Given the description of an element on the screen output the (x, y) to click on. 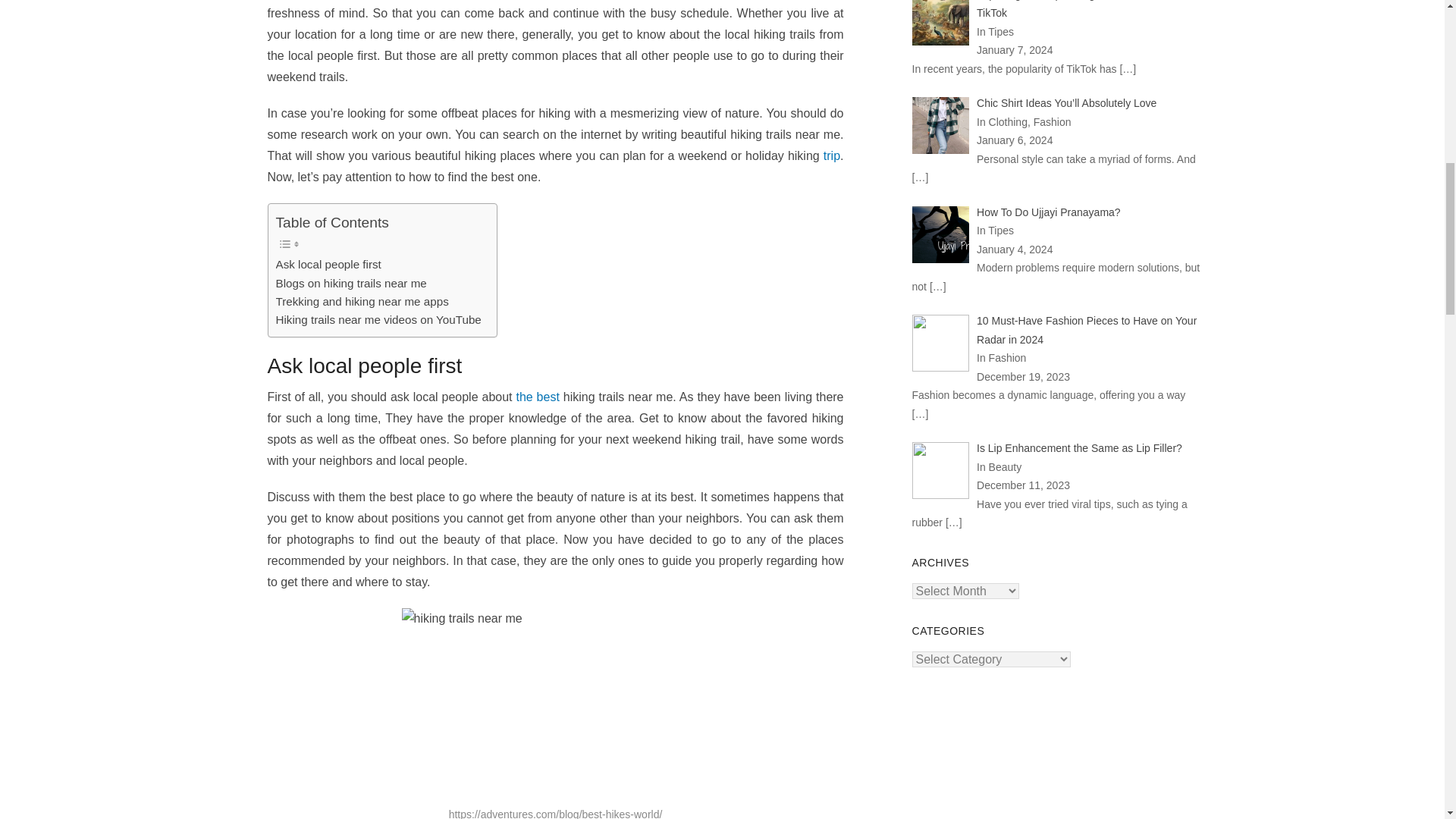
Trekking and hiking near me apps (362, 301)
Blogs on hiking trails near me (351, 283)
Hiking trails near me videos on YouTube (378, 320)
Ask local people first (328, 264)
